Given the description of an element on the screen output the (x, y) to click on. 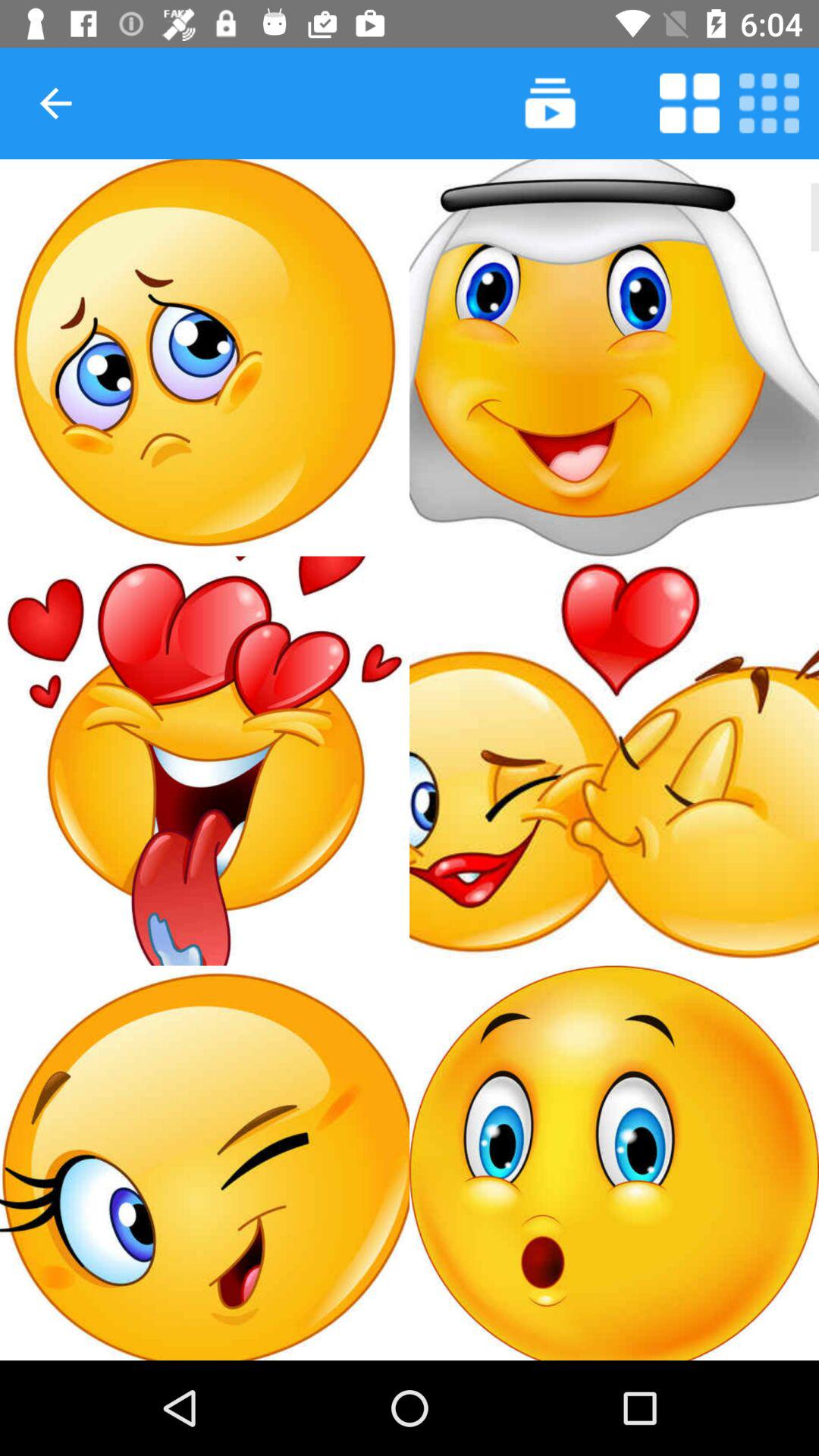
wink face emoji (204, 1162)
